Given the description of an element on the screen output the (x, y) to click on. 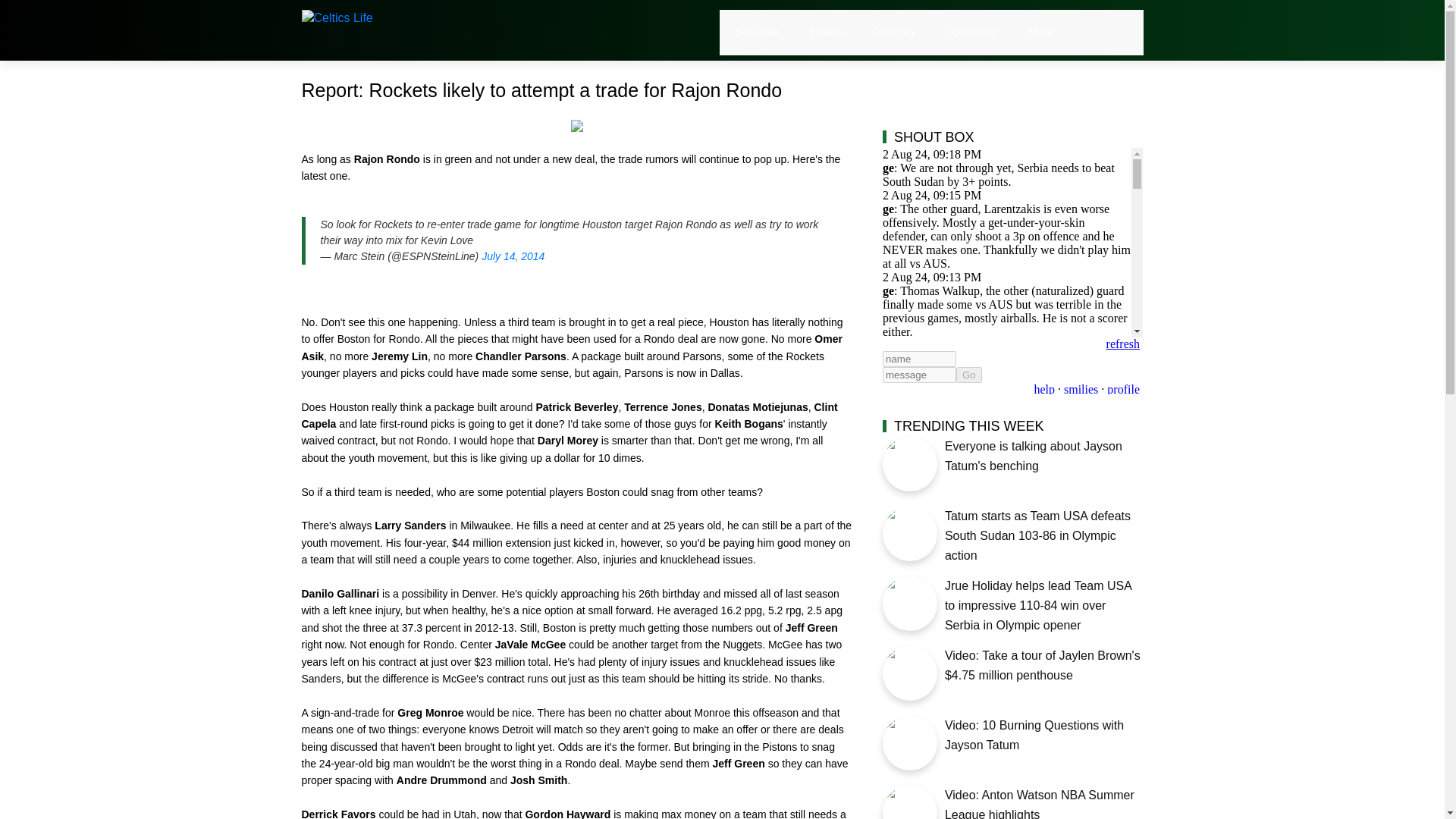
Schedule (756, 32)
Comments (969, 32)
July 14, 2014 (512, 256)
Features (893, 32)
